Given the description of an element on the screen output the (x, y) to click on. 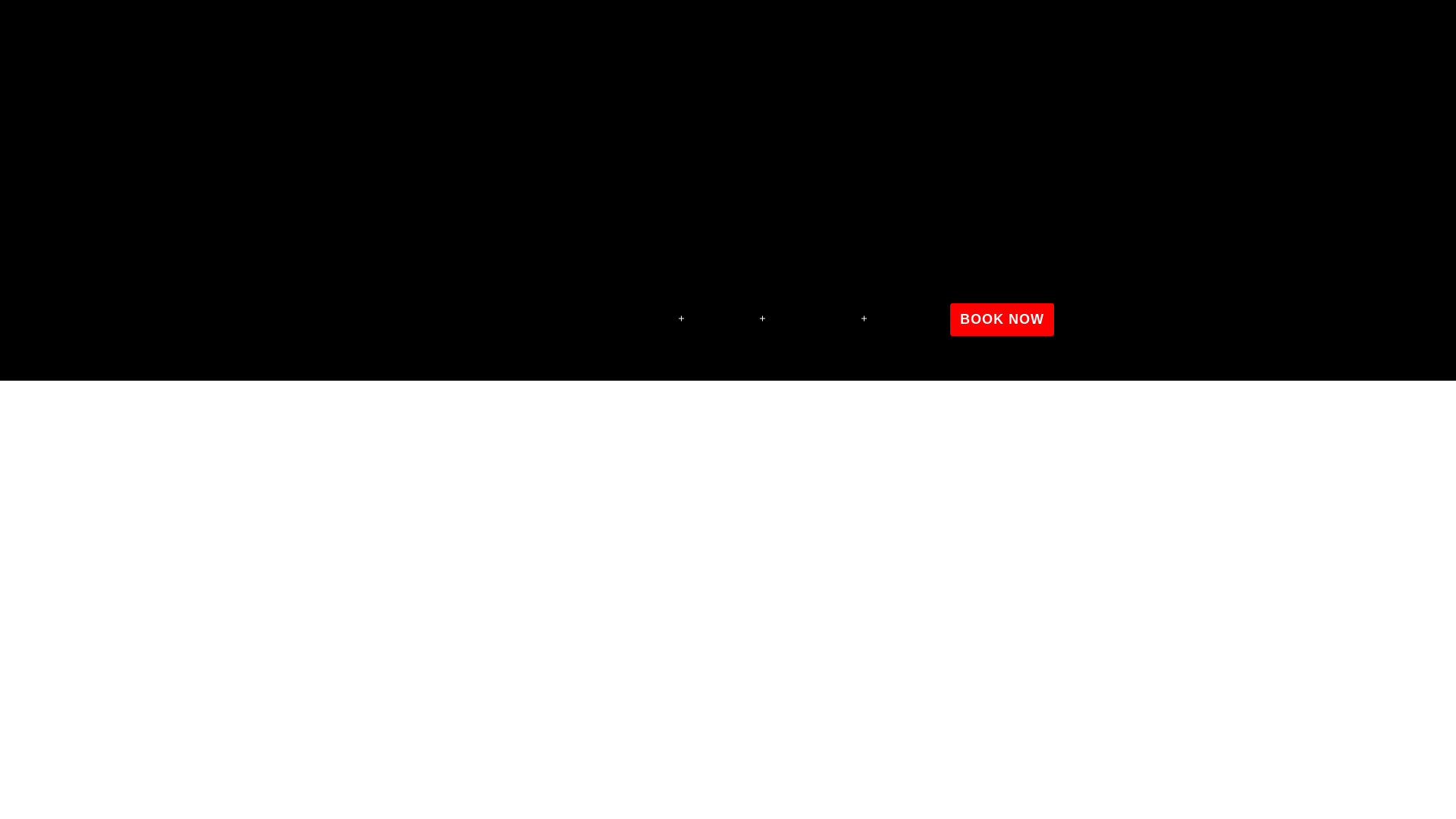
ABOUT (660, 317)
CONTACT (911, 317)
HOME (604, 317)
SERVICES (730, 317)
BOOK NOW (1002, 319)
CLIENT CARE (822, 317)
